Given the description of an element on the screen output the (x, y) to click on. 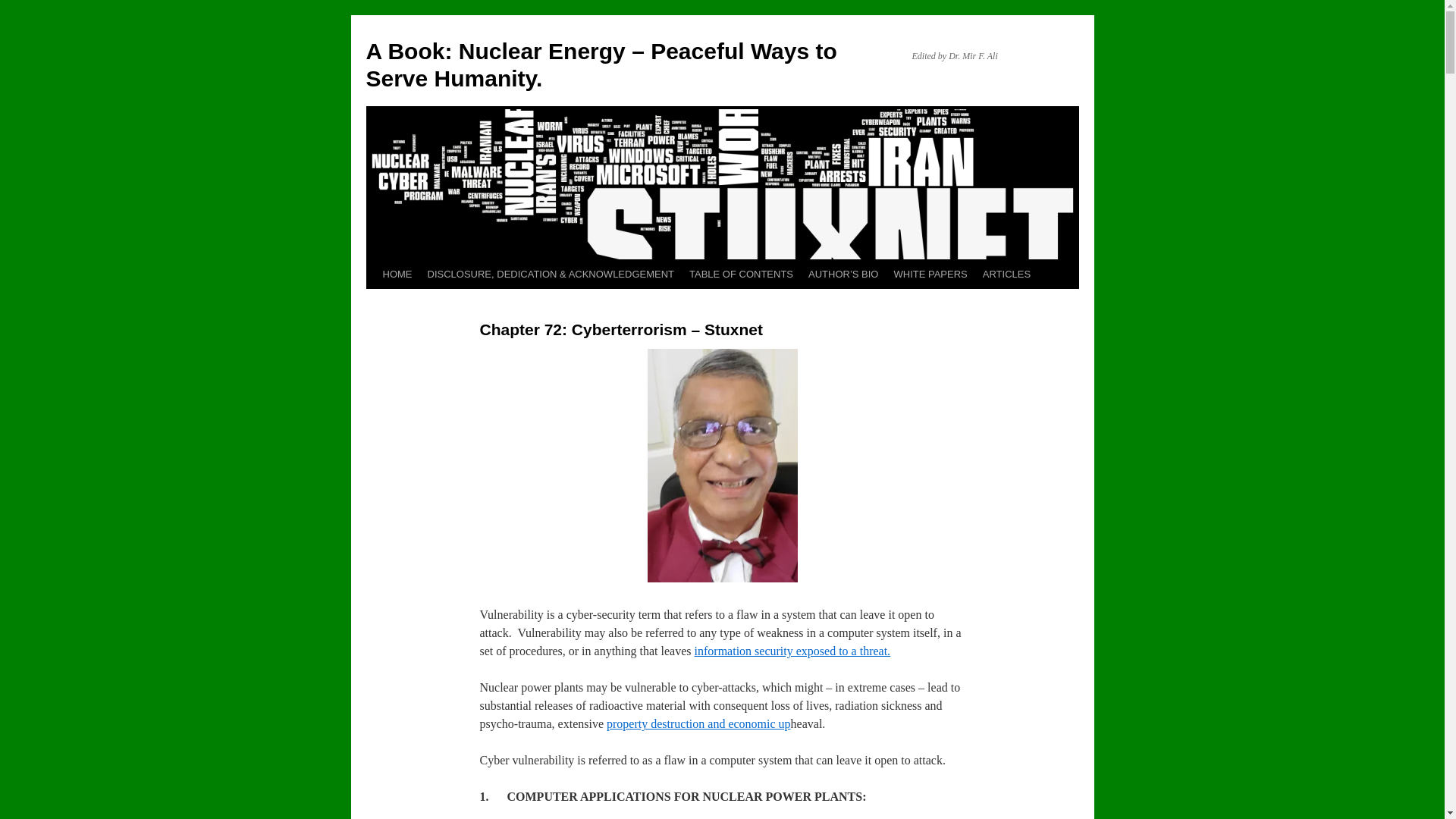
property destruction and economic up (698, 723)
TABLE OF CONTENTS (740, 274)
information security exposed to a threat. (792, 650)
ARTICLES (1006, 274)
HOME (396, 274)
WHITE PAPERS (929, 274)
